Given the description of an element on the screen output the (x, y) to click on. 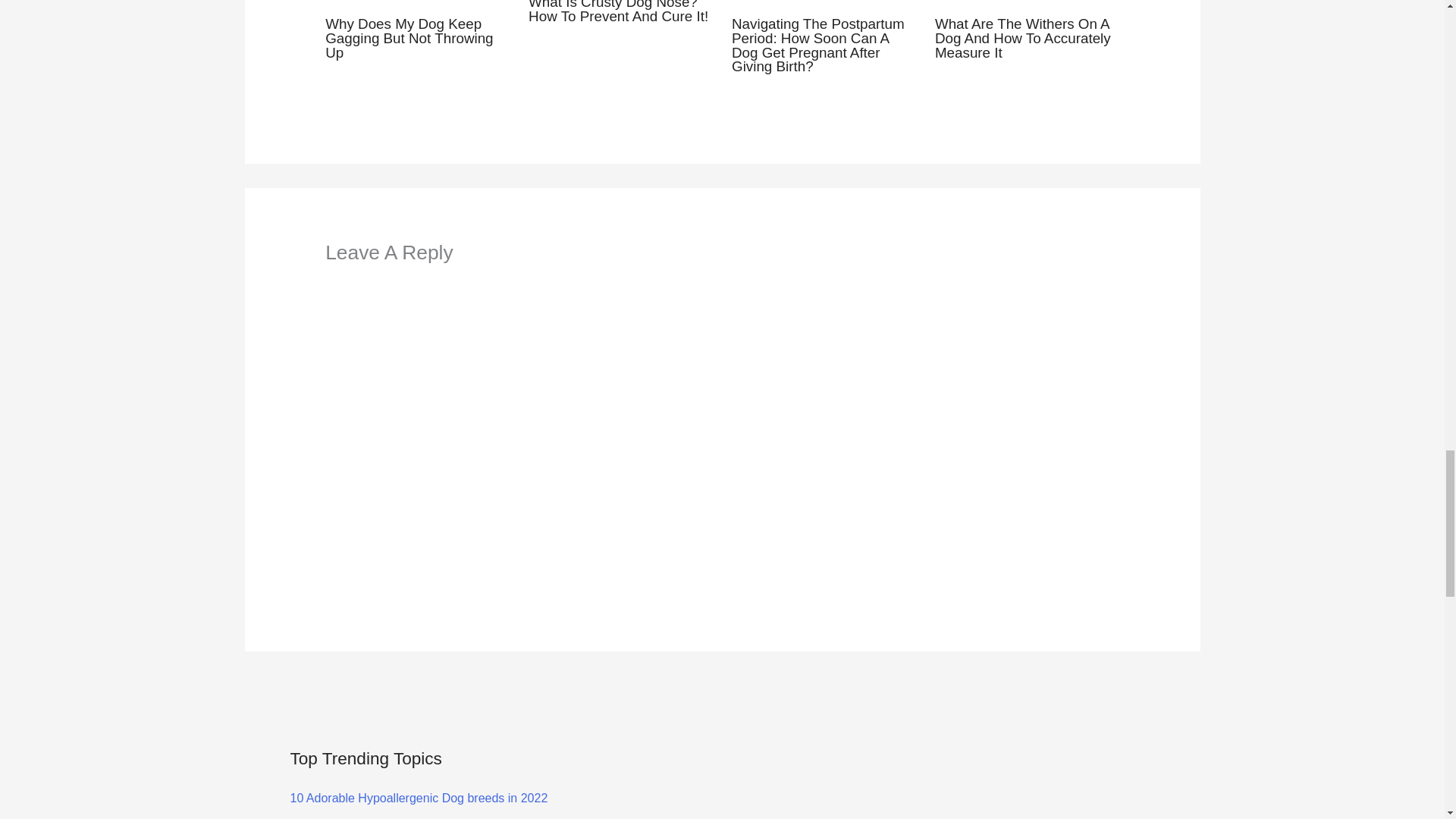
Why Does My Dog Keep Gagging But Not Throwing Up (408, 37)
10 Adorable Hypoallergenic Dog breeds in 2022 (418, 797)
What Is Crusty Dog Nose? How To Prevent And Cure It! (617, 12)
